Given the description of an element on the screen output the (x, y) to click on. 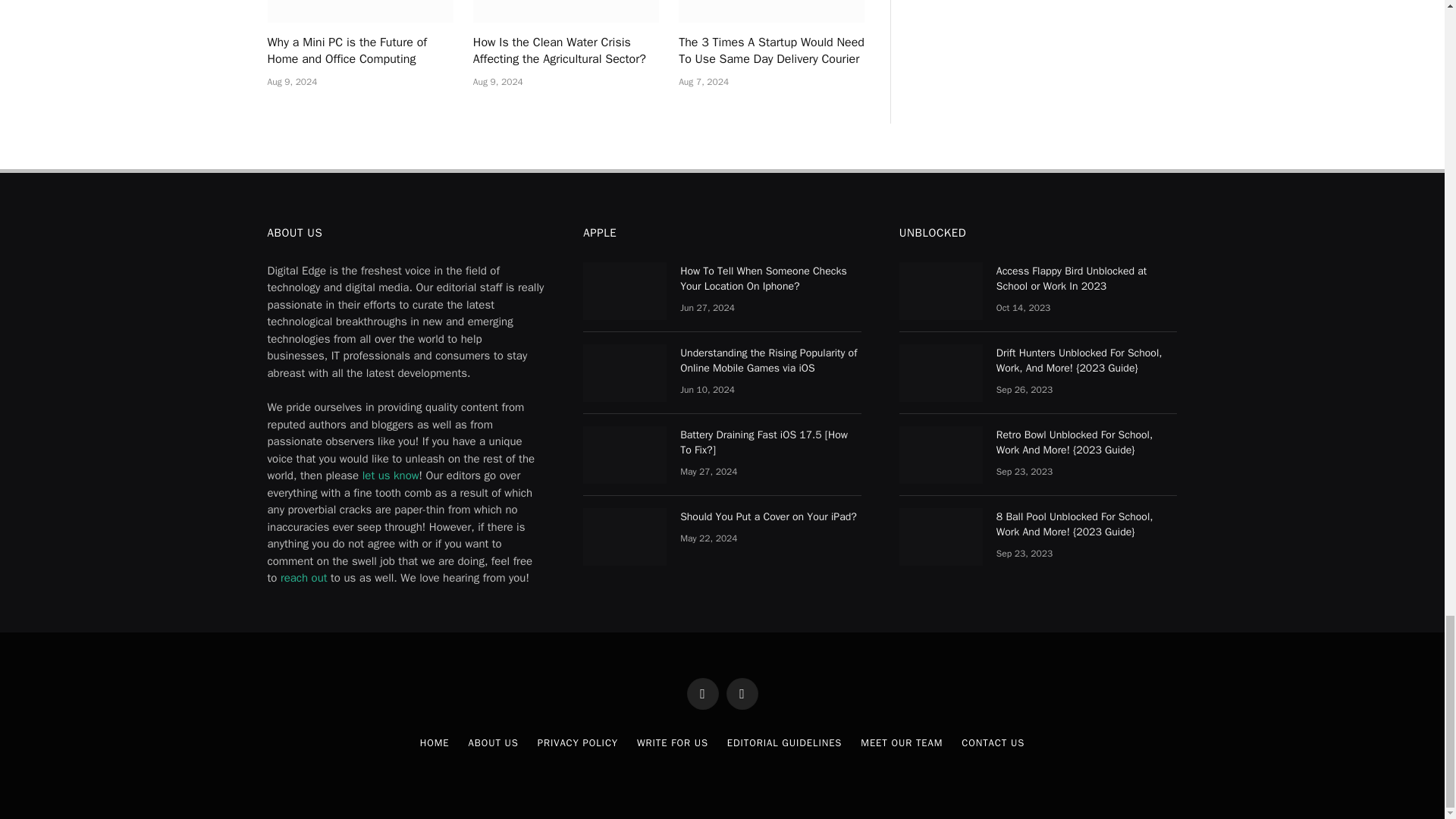
Why a Mini PC is the Future of Home and Office Computing (359, 11)
